Given the description of an element on the screen output the (x, y) to click on. 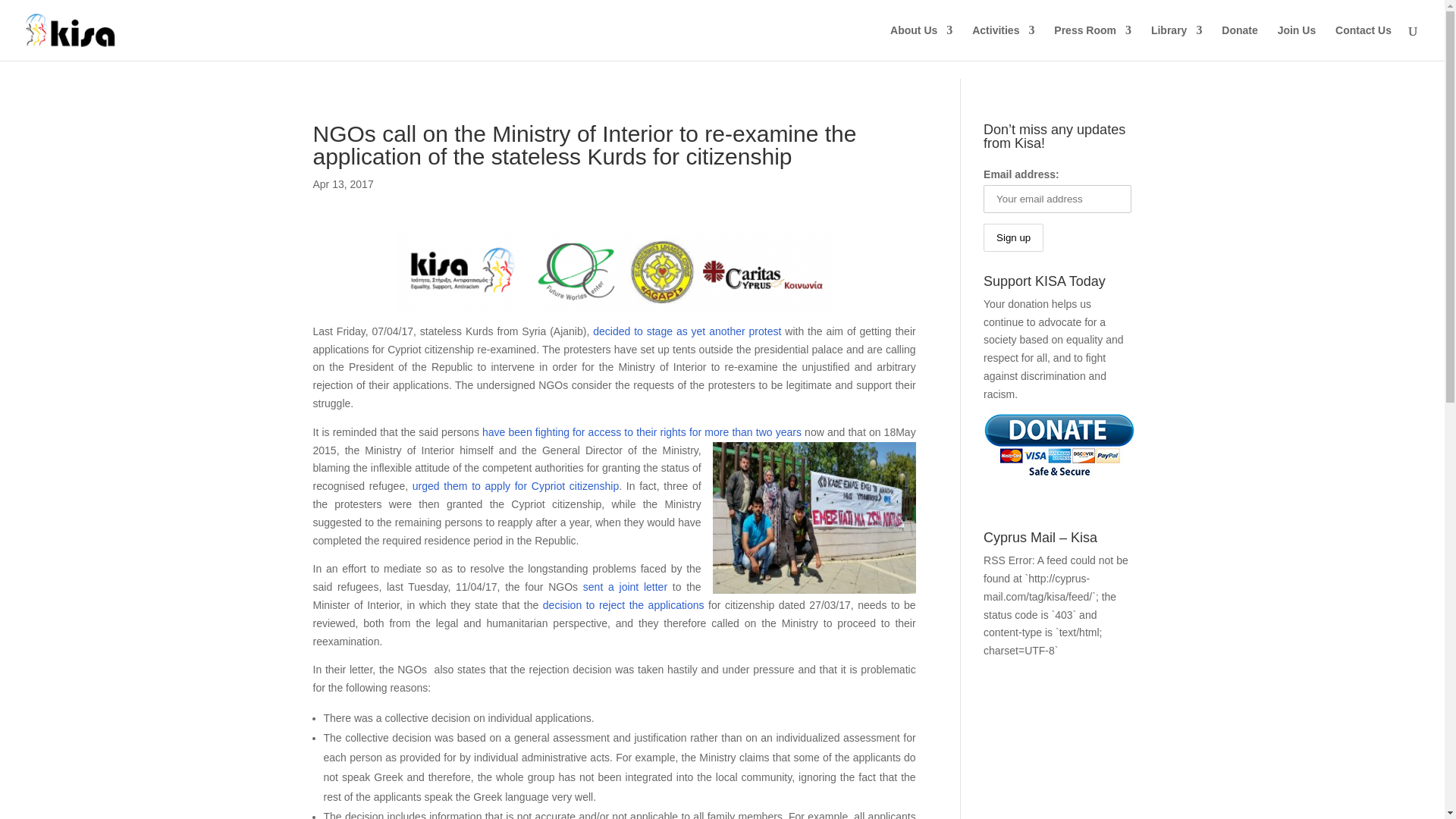
Library (1176, 42)
Sign up (1013, 237)
decision to reject the applications (623, 604)
sent a joint letter (624, 586)
Contact Us (1363, 42)
Press Room (1092, 42)
Activities (1002, 42)
About Us (920, 42)
Donate (1239, 42)
urged them to apply for Cypriot citizenship (515, 485)
Join Us (1297, 42)
decided to stage as yet another protest (686, 331)
